Given the description of an element on the screen output the (x, y) to click on. 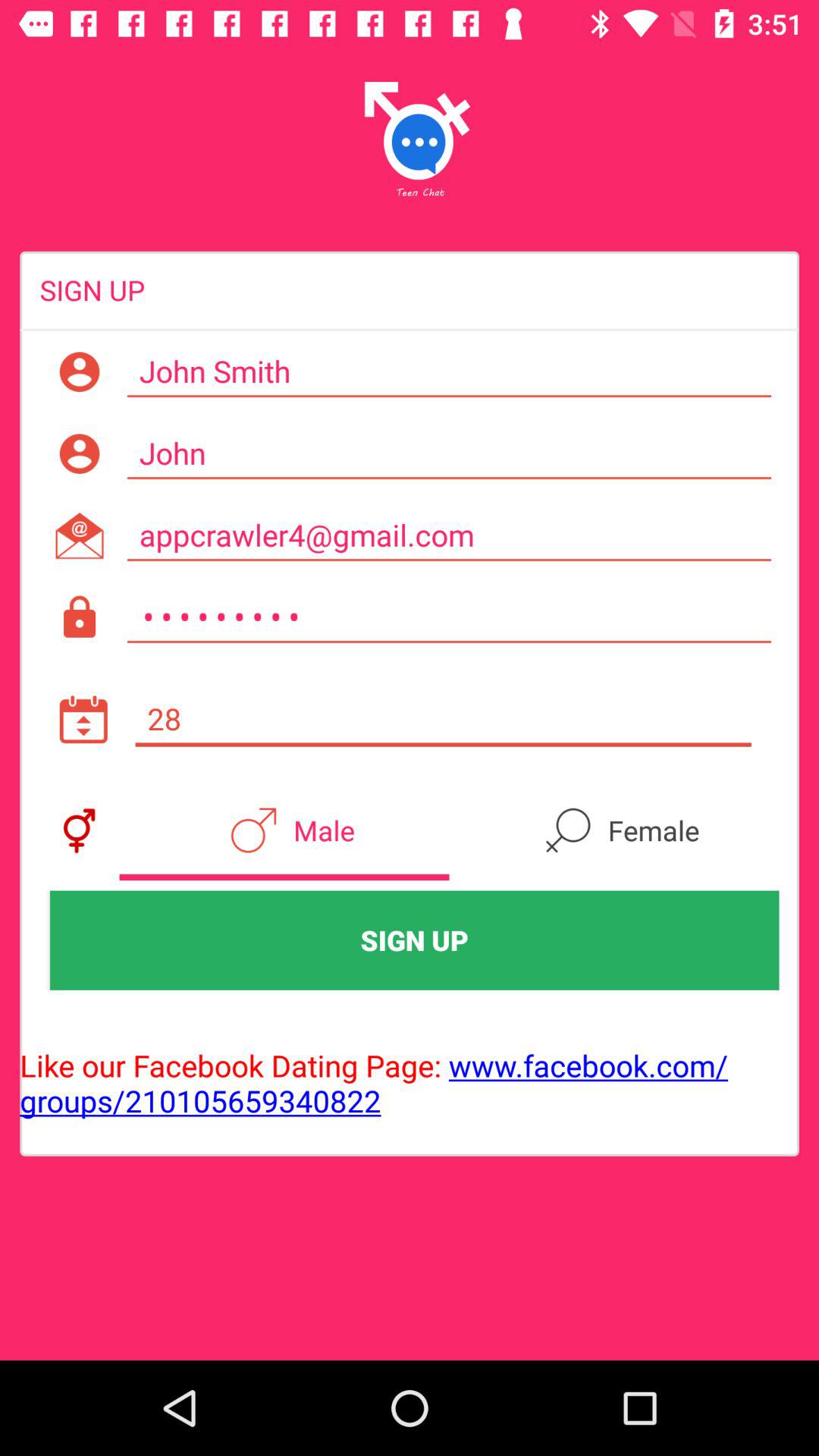
select the icon which is left to male option (79, 830)
